Given the description of an element on the screen output the (x, y) to click on. 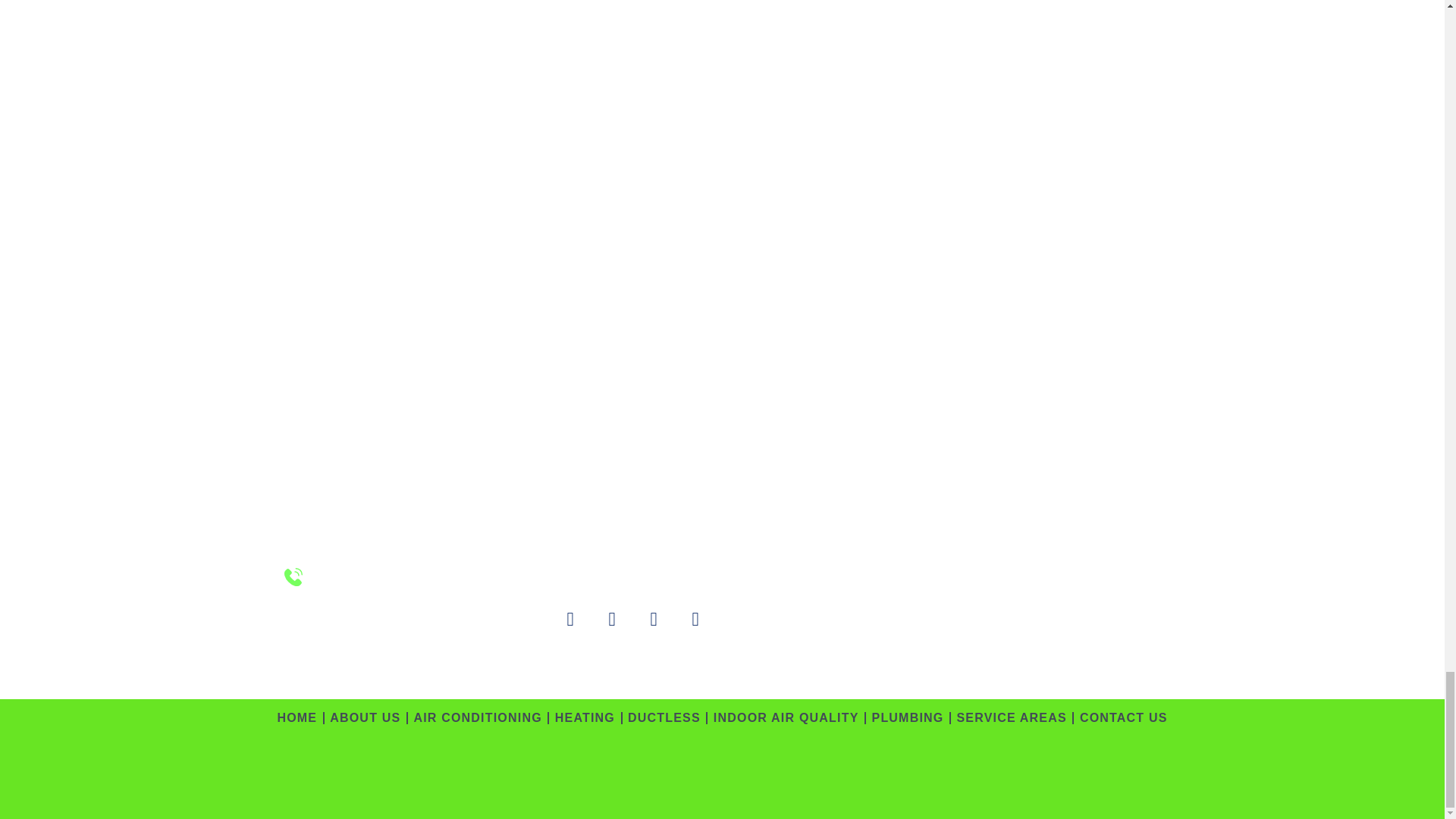
GMap (908, 572)
